Given the description of an element on the screen output the (x, y) to click on. 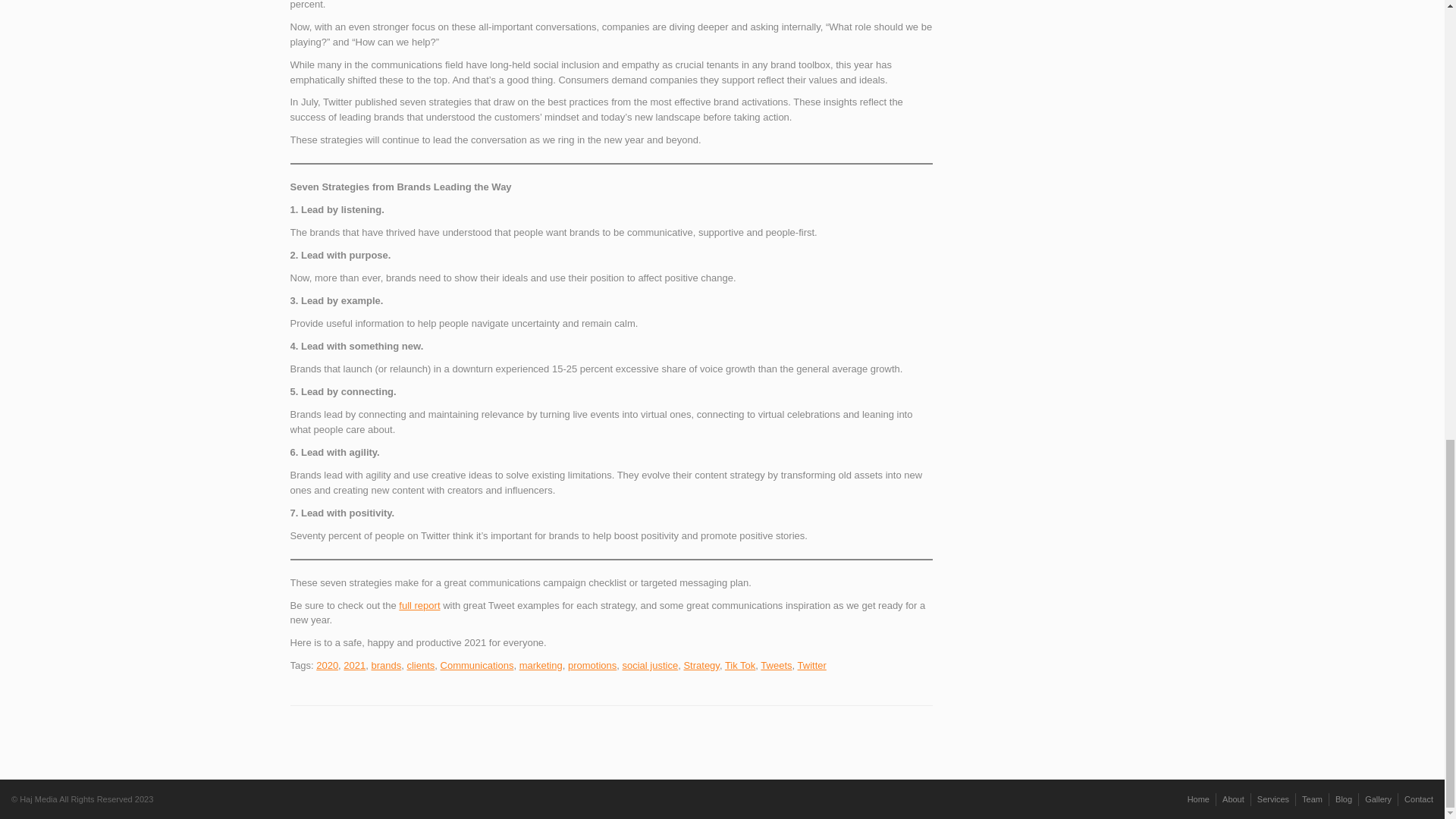
marketing (540, 665)
2021 (354, 665)
Tweets (776, 665)
social justice (649, 665)
2020 (326, 665)
Twitter (812, 665)
full report (418, 604)
brands (386, 665)
promotions (591, 665)
clients (419, 665)
Tik Tok (740, 665)
Strategy (700, 665)
Communications (477, 665)
